Given the description of an element on the screen output the (x, y) to click on. 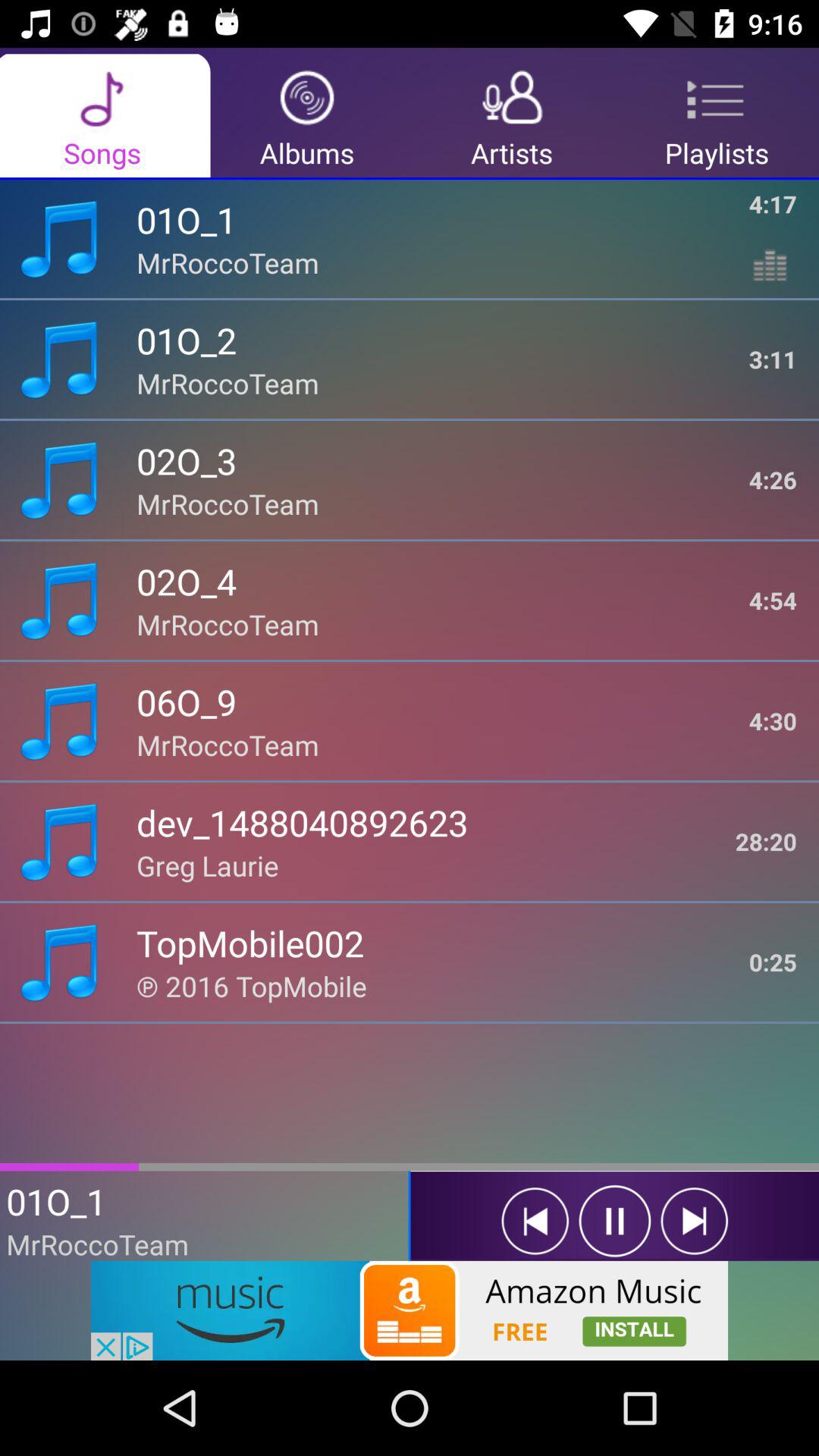
open the advertisement link (409, 1310)
